Given the description of an element on the screen output the (x, y) to click on. 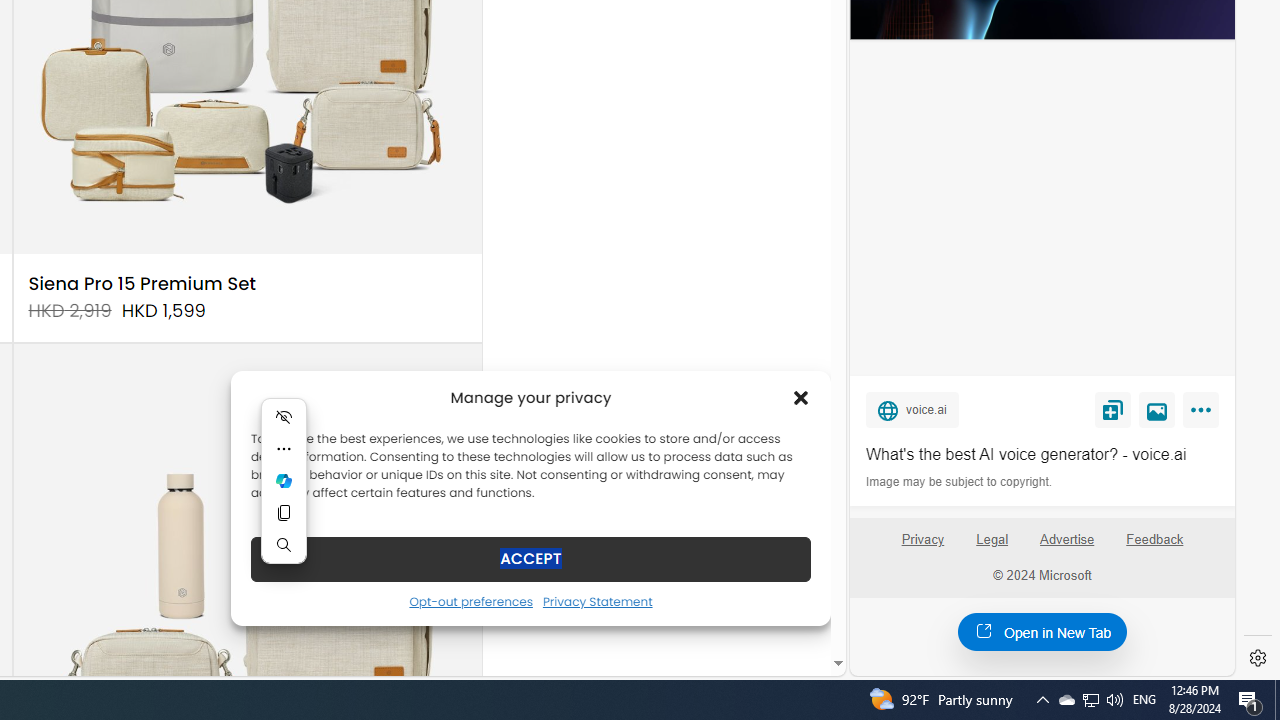
Siena Pro 15 Premium Set (142, 283)
More actions (283, 448)
Legal (991, 539)
Legal (992, 547)
Class: cmplz-close (801, 397)
Privacy Statement (596, 601)
Image may be subject to copyright. (959, 481)
Advertise (1066, 539)
Opt-out preferences (470, 601)
Hide menu (283, 416)
Ask Copilot (283, 480)
Mini menu on text selection (283, 493)
Privacy (922, 539)
